Given the description of an element on the screen output the (x, y) to click on. 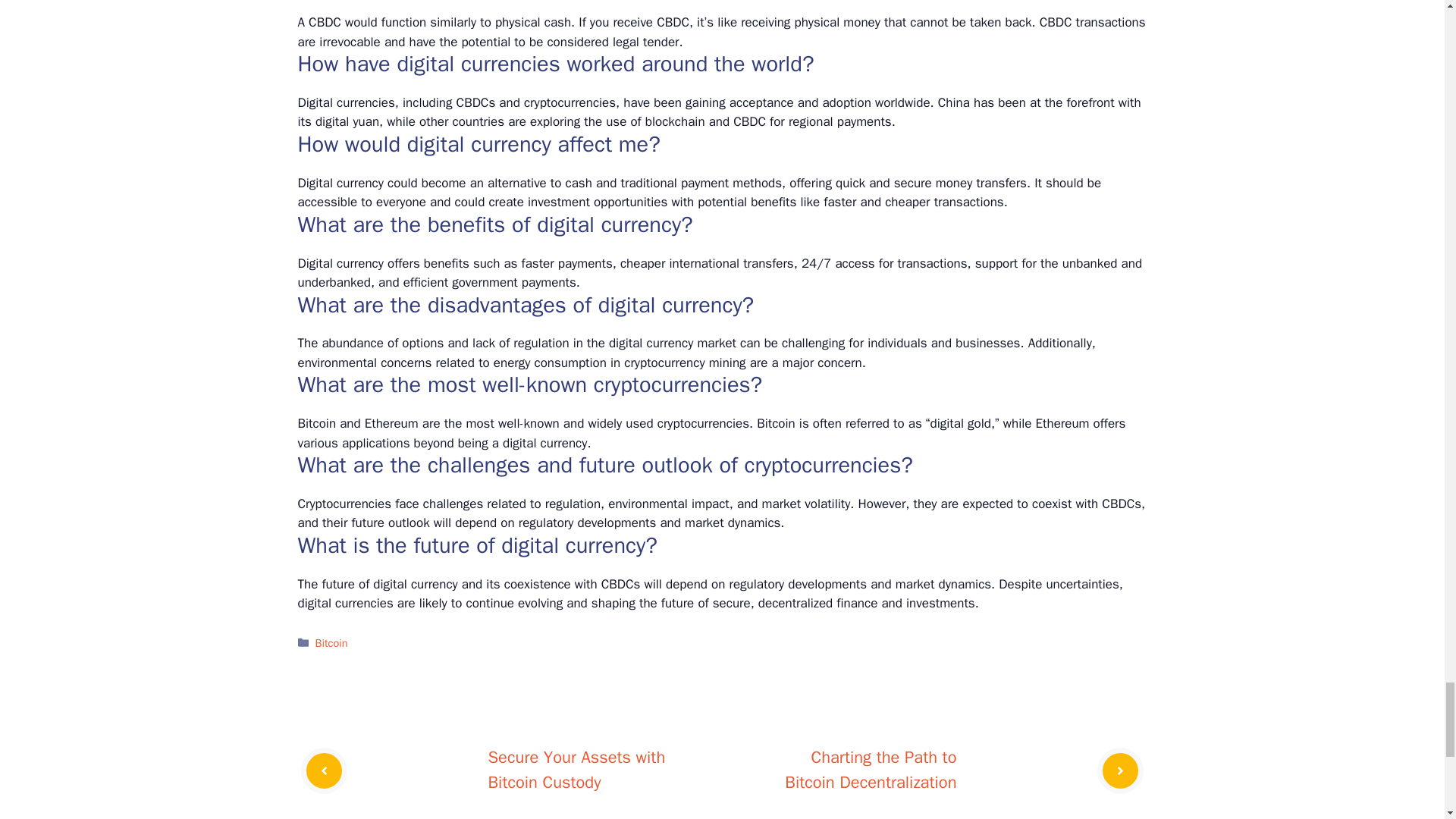
Charting the Path to Bitcoin Decentralization (870, 769)
Secure Your Assets with Bitcoin Custody (576, 769)
Bitcoin (331, 643)
